Given the description of an element on the screen output the (x, y) to click on. 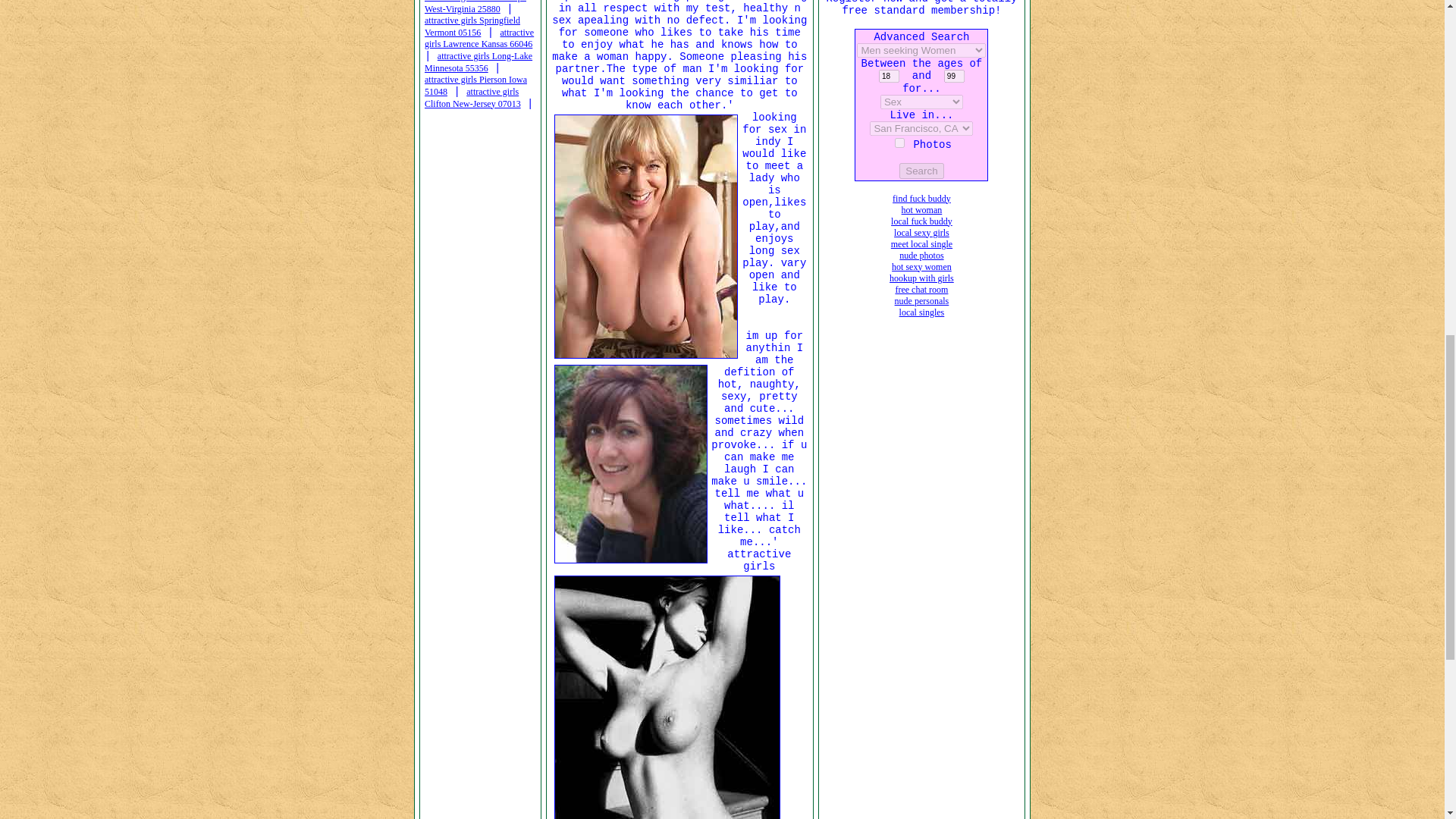
Search (921, 170)
18 (889, 75)
attractive girls Pierson Iowa 51048 (476, 85)
attractive girls Long-Lake Minnesota 55356 (478, 60)
attractive girls Springfield Vermont 05156 (472, 26)
attractive girls Mount-Hope West-Virginia 25880 (475, 6)
attractive girls Lawrence Kansas 66046 (921, 101)
local sexy girls (479, 38)
find fuck buddy (921, 232)
attractive girls Clifton New-Jersey 07013 (921, 197)
hot woman (473, 97)
99 (921, 209)
